Given the description of an element on the screen output the (x, y) to click on. 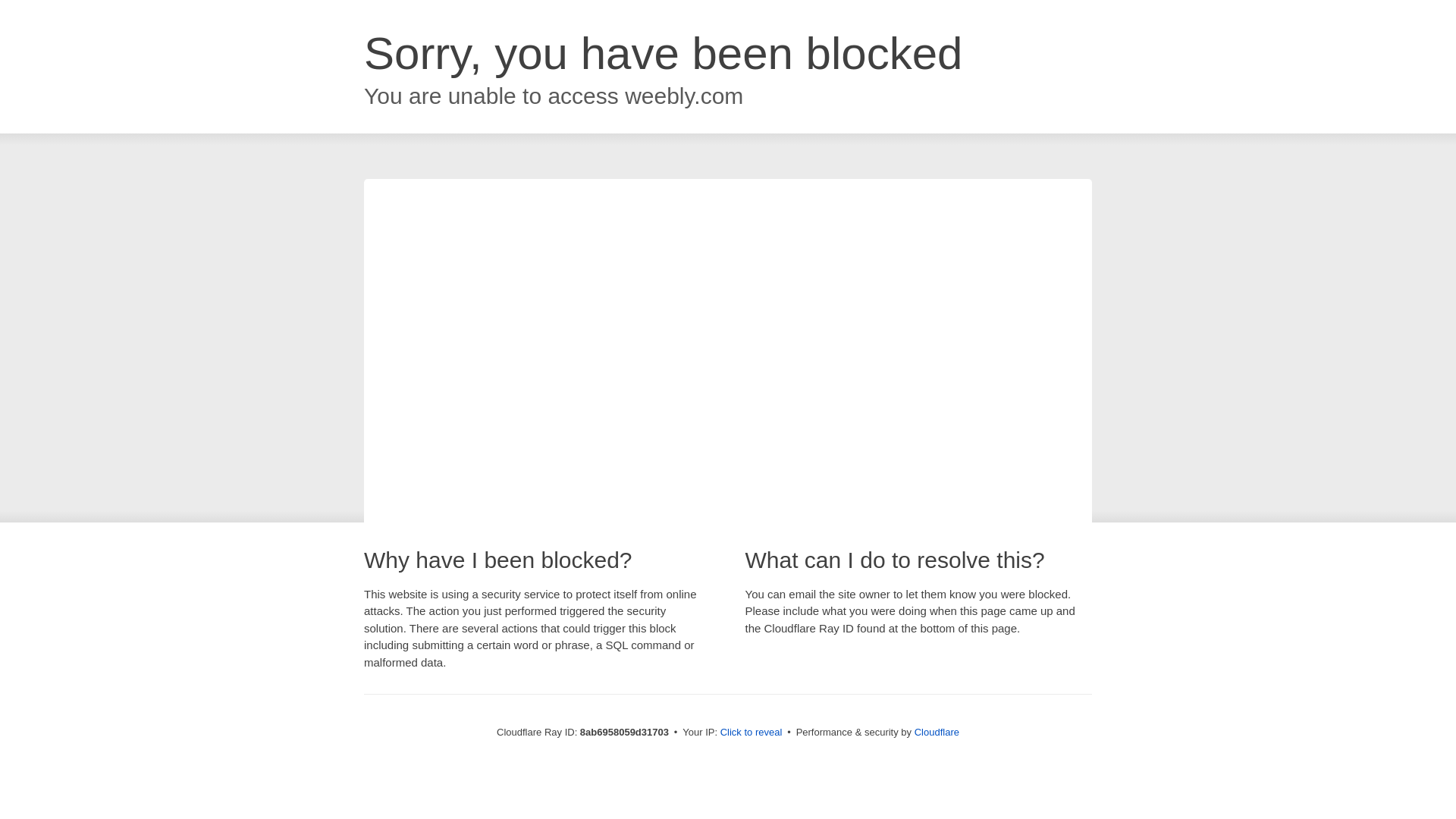
Cloudflare (936, 731)
Click to reveal (751, 732)
